Given the description of an element on the screen output the (x, y) to click on. 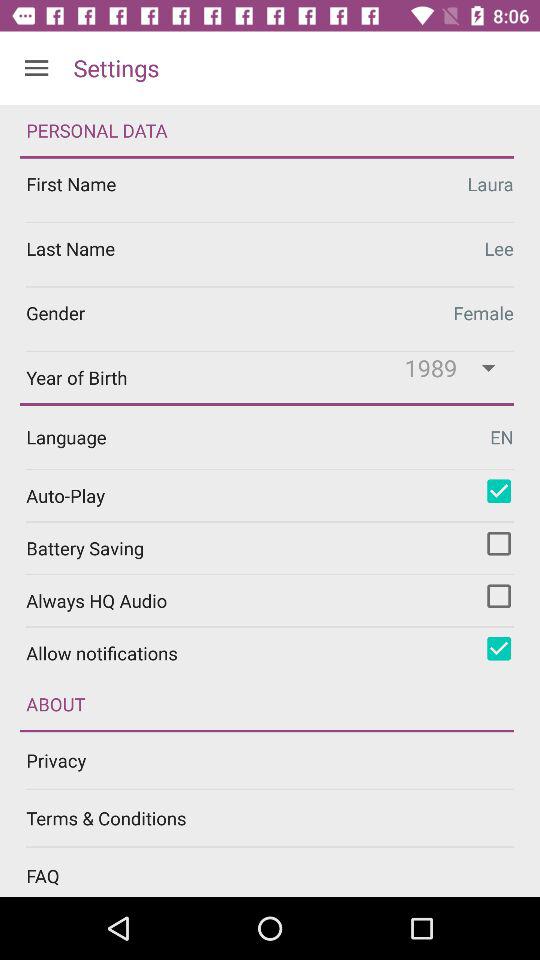
enter last name (270, 254)
